Given the description of an element on the screen output the (x, y) to click on. 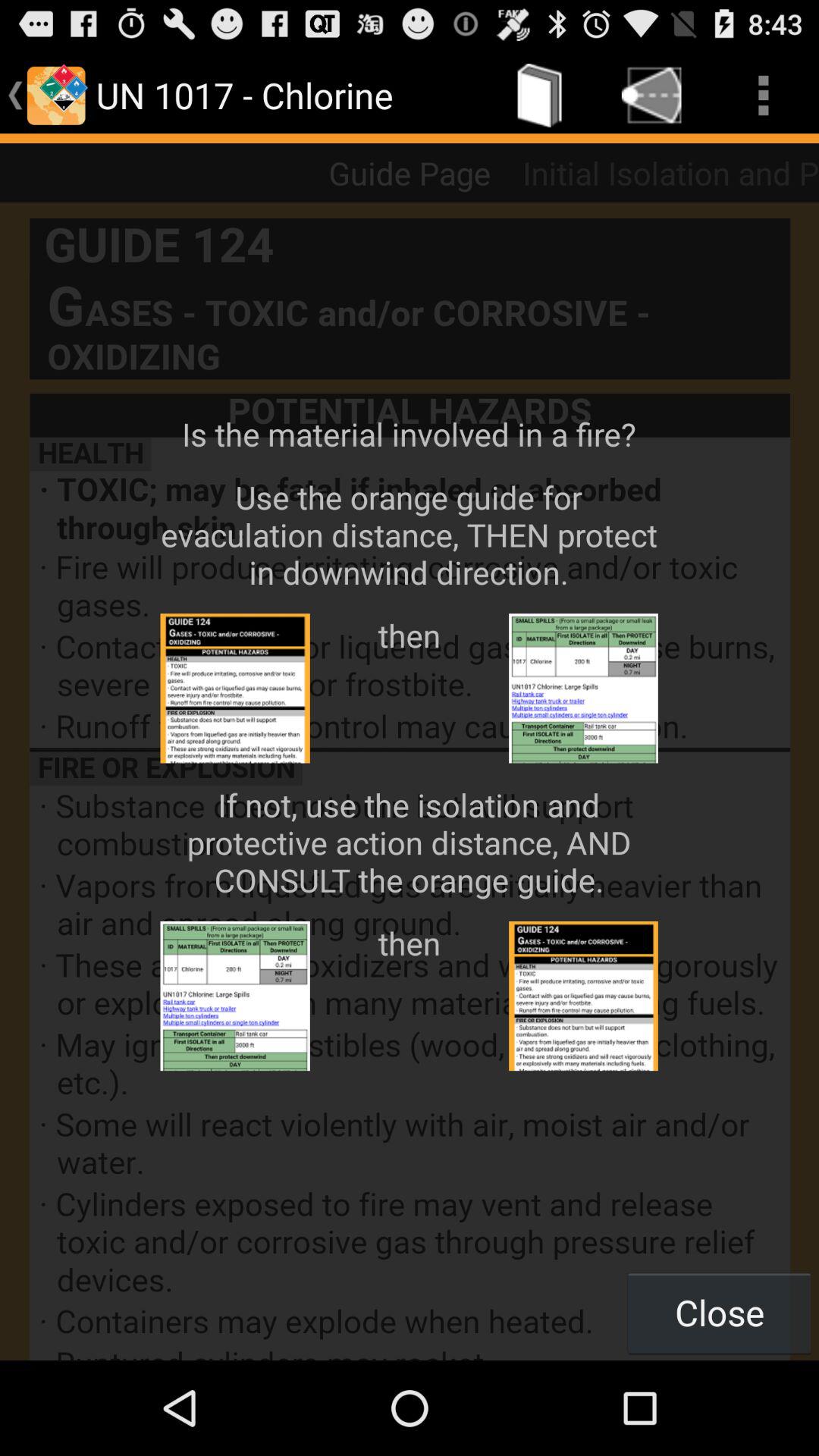
press icon above the initial isolation and icon (763, 95)
